Given the description of an element on the screen output the (x, y) to click on. 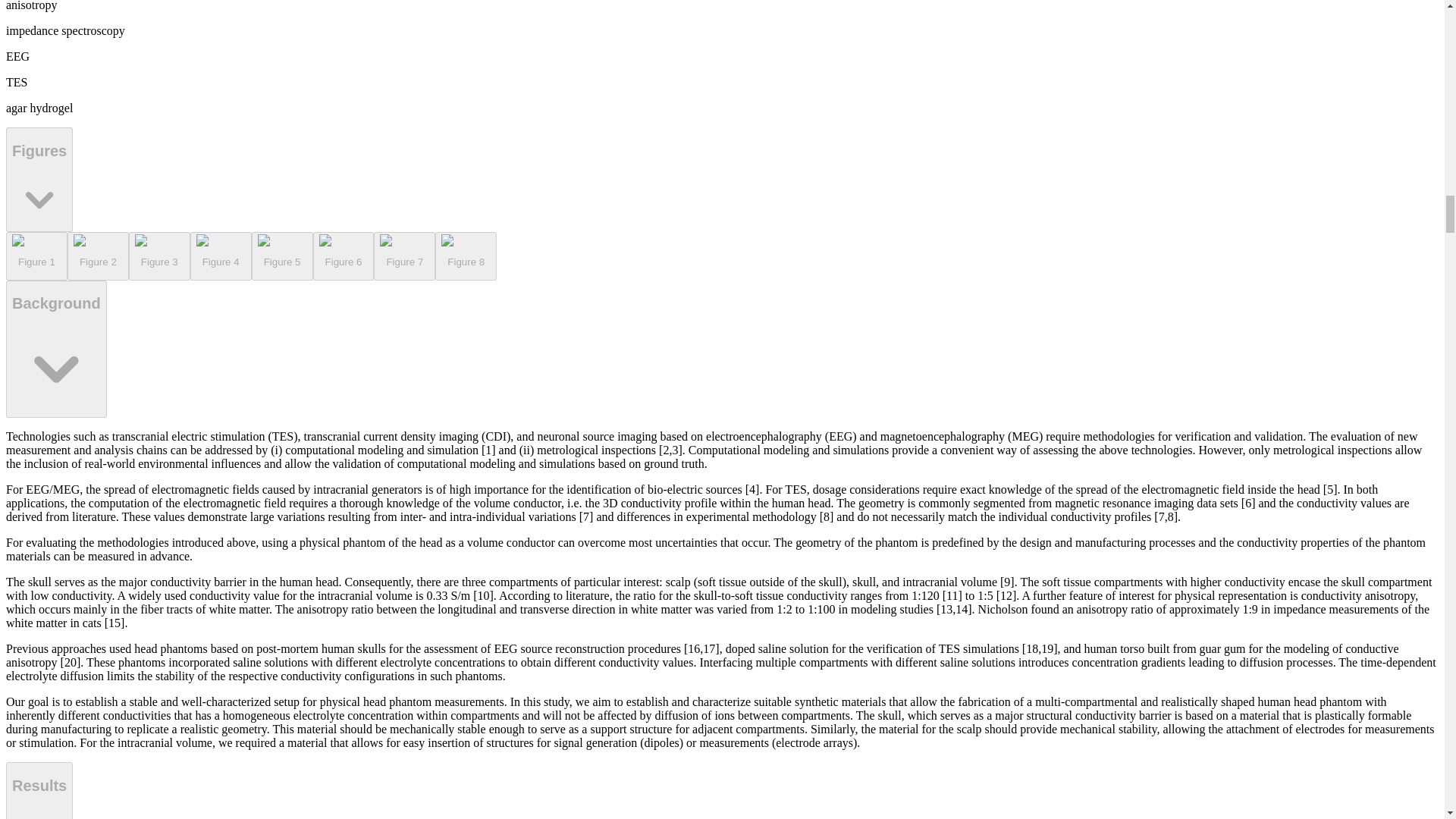
Figure 4 (220, 255)
Figure 8 (465, 255)
Figure 1 (35, 255)
Figure 5 (282, 255)
Figure 2 (97, 255)
Figure 7 (404, 255)
Figure 3 (159, 255)
Figure 6 (343, 255)
